Given the description of an element on the screen output the (x, y) to click on. 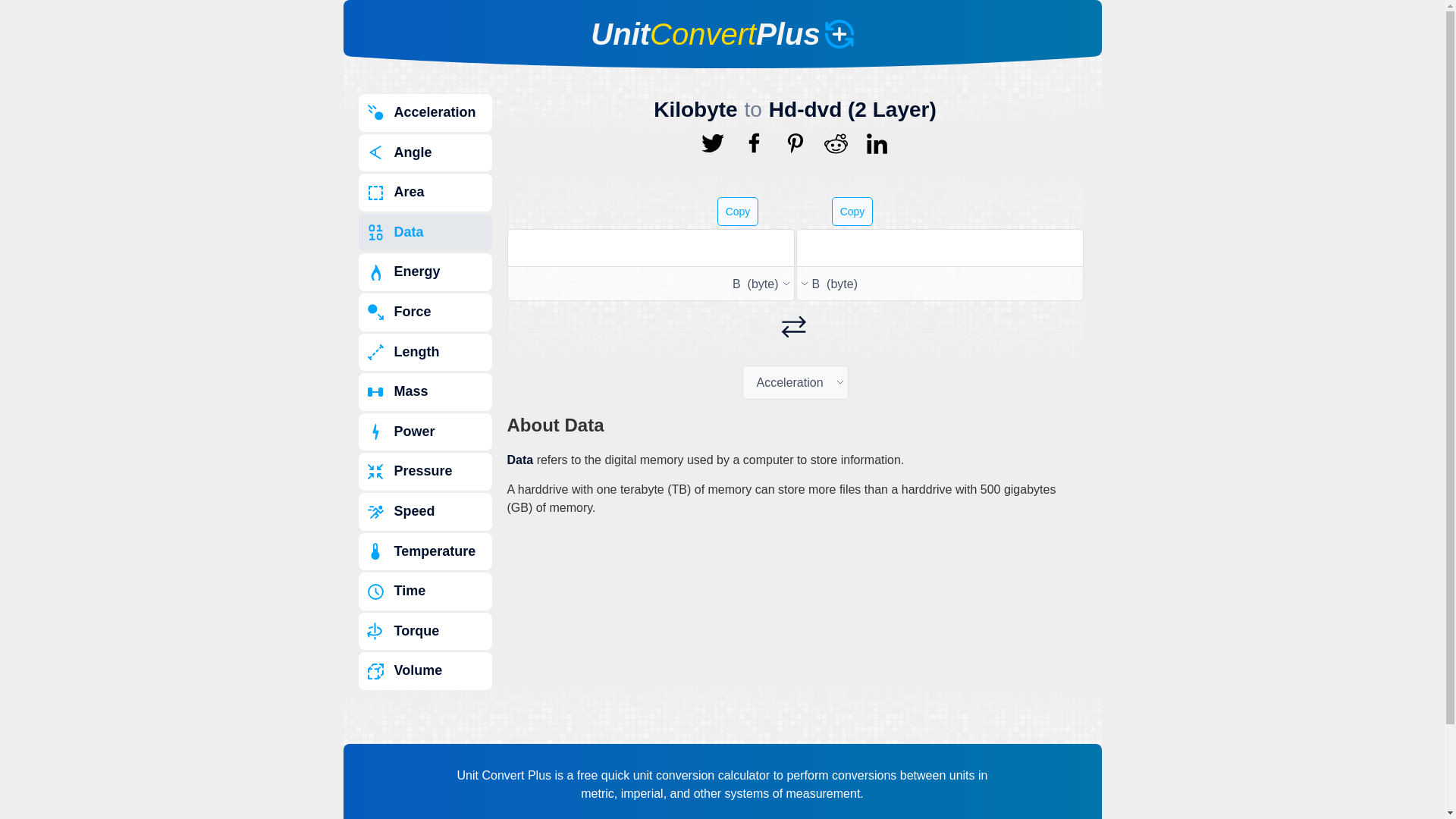
Time (425, 591)
Length (425, 352)
Speed (425, 511)
Force (425, 312)
UnitConvertPlus (722, 33)
Acceleration (425, 112)
Mass (425, 392)
Volume (425, 670)
Angle (425, 152)
Torque (425, 631)
Power (425, 432)
Energy (425, 272)
Pressure (425, 471)
Temperature (425, 551)
Data (425, 232)
